Given the description of an element on the screen output the (x, y) to click on. 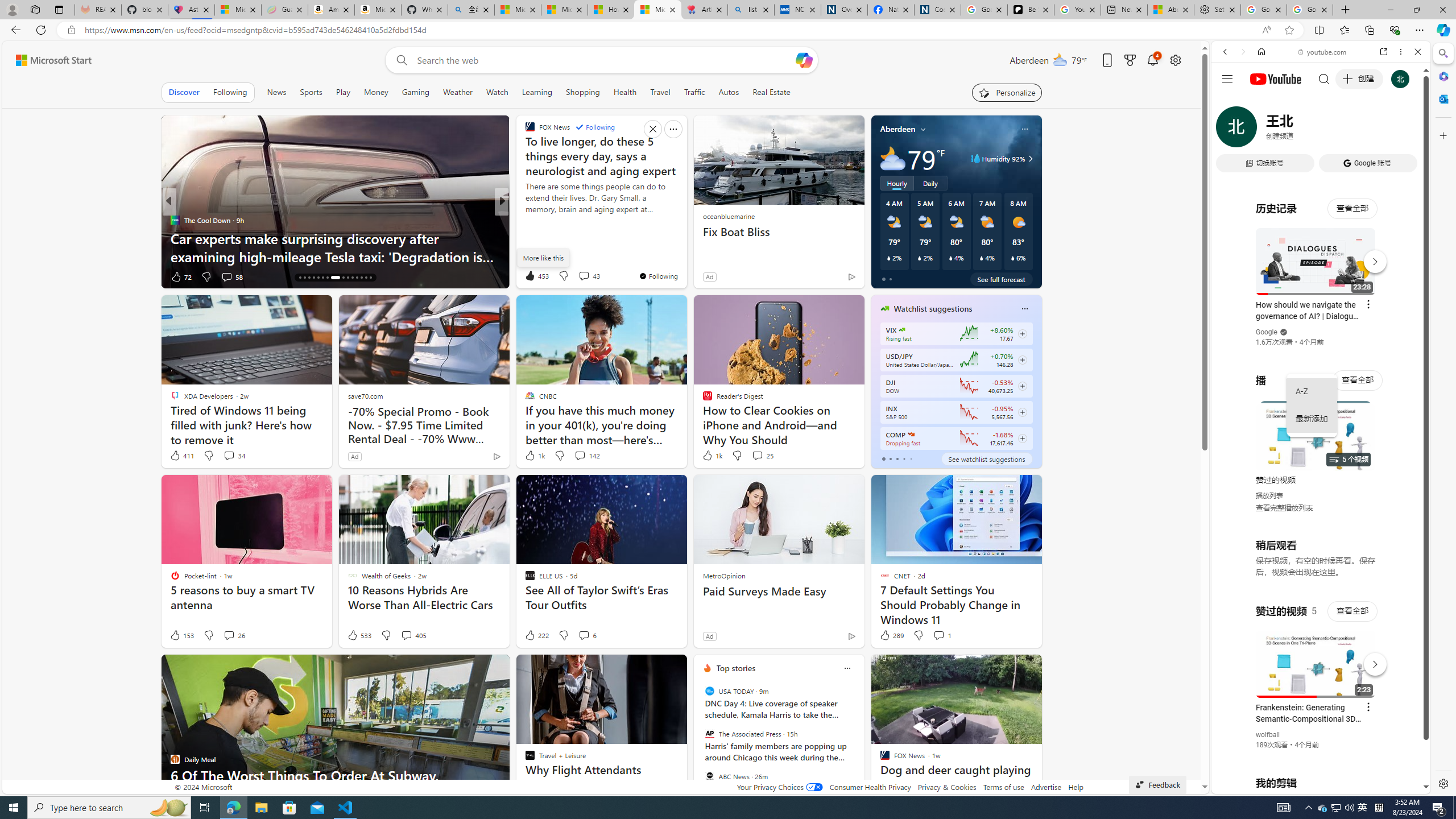
Class: follow-button  m (1021, 438)
Be Smart | creating Science videos | Patreon (1030, 9)
Microsoft sends Windows Control Panel to tech graveyard (335, 247)
View comments 6 Comment (583, 635)
CNET (524, 219)
